Given the description of an element on the screen output the (x, y) to click on. 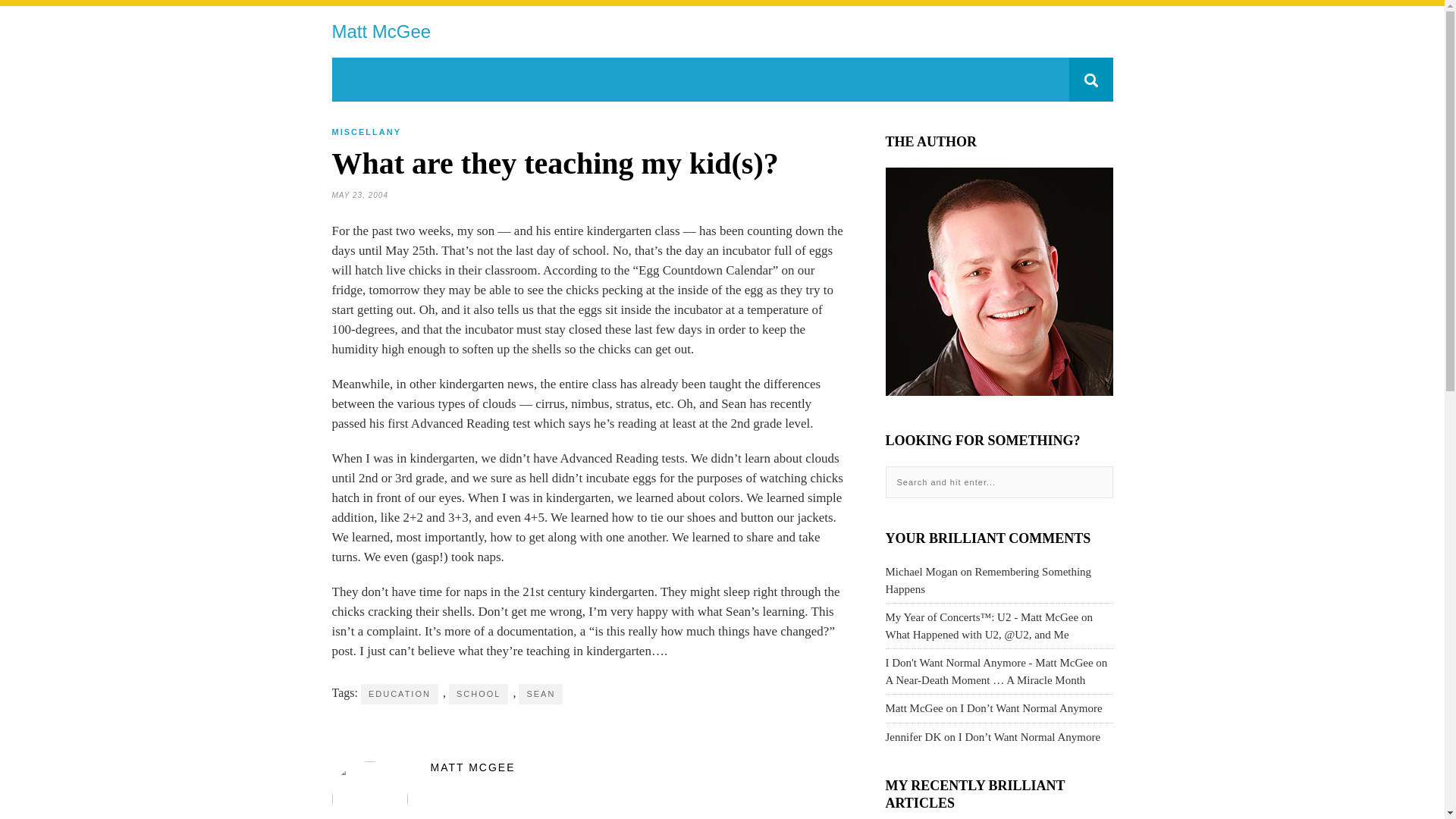
EDUCATION (399, 693)
MATT MCGEE (589, 767)
Posts by Matt McGee (589, 767)
MISCELLANY (366, 131)
Michael Mogan (921, 571)
I Don't Want Normal Anymore - Matt McGee (989, 662)
Matt McGee (380, 31)
Remembering Something Happens (988, 580)
SEAN (540, 693)
View all posts in Miscellany (366, 131)
